Given the description of an element on the screen output the (x, y) to click on. 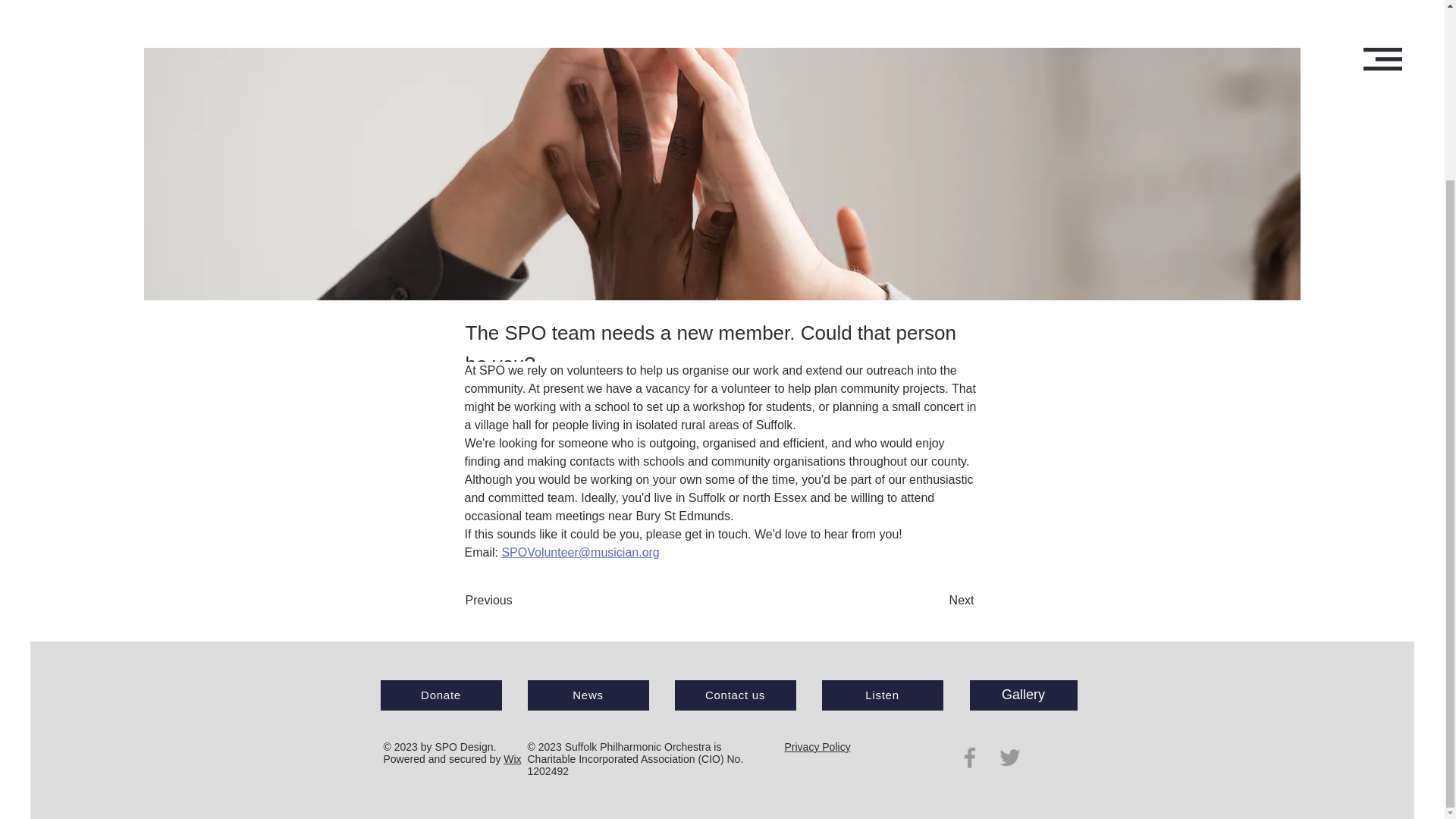
Donate (441, 695)
Next (936, 600)
Contact us (735, 695)
Wix (512, 758)
News (588, 695)
Gallery (1023, 695)
Listen (882, 695)
Privacy Policy (817, 746)
Previous (515, 600)
